Given the description of an element on the screen output the (x, y) to click on. 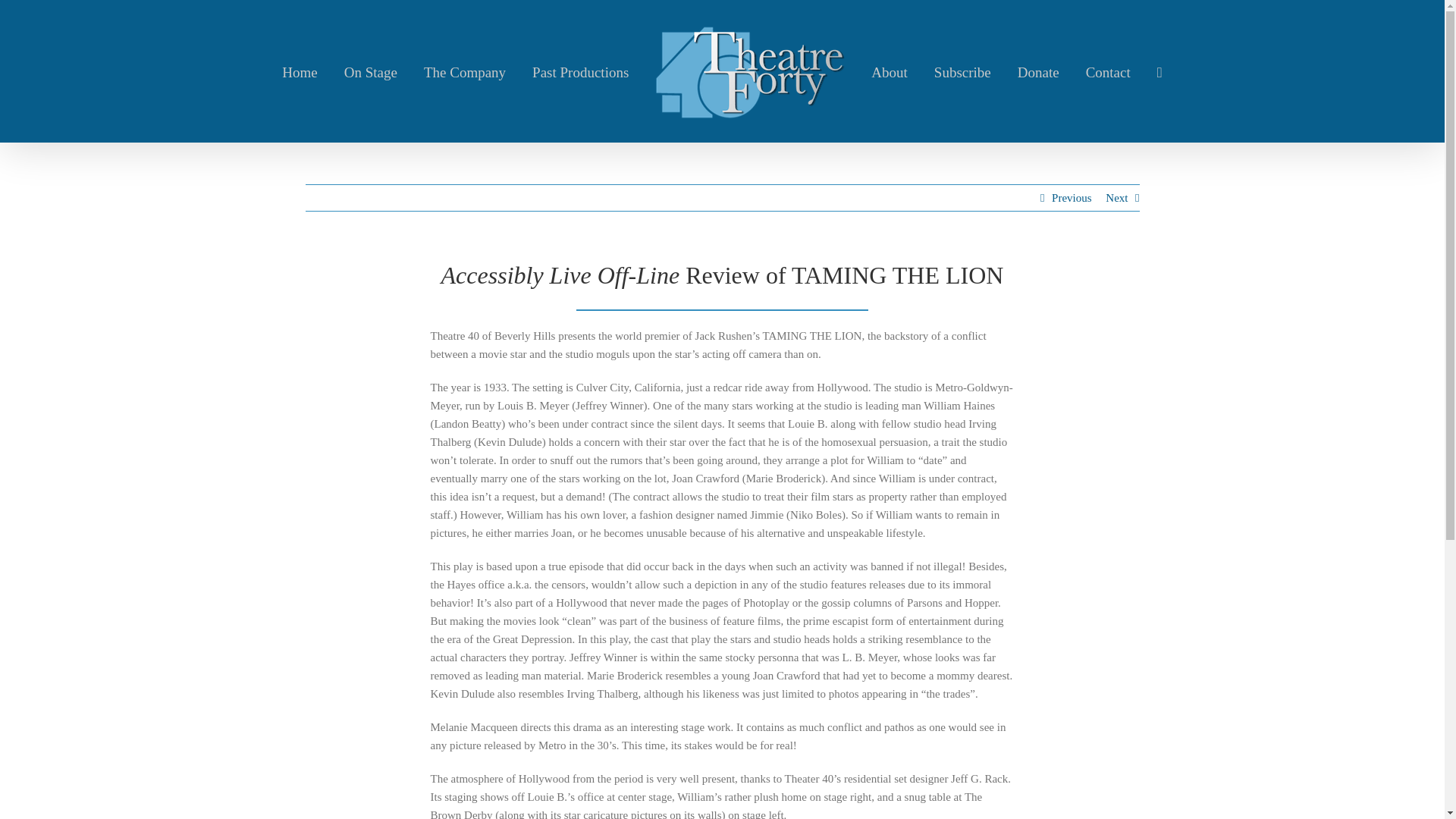
Donate (1038, 71)
On Stage (370, 71)
Home (299, 71)
Subscribe (962, 71)
Contact (1108, 71)
The Company (464, 71)
About (888, 71)
Past Productions (580, 71)
